Given the description of an element on the screen output the (x, y) to click on. 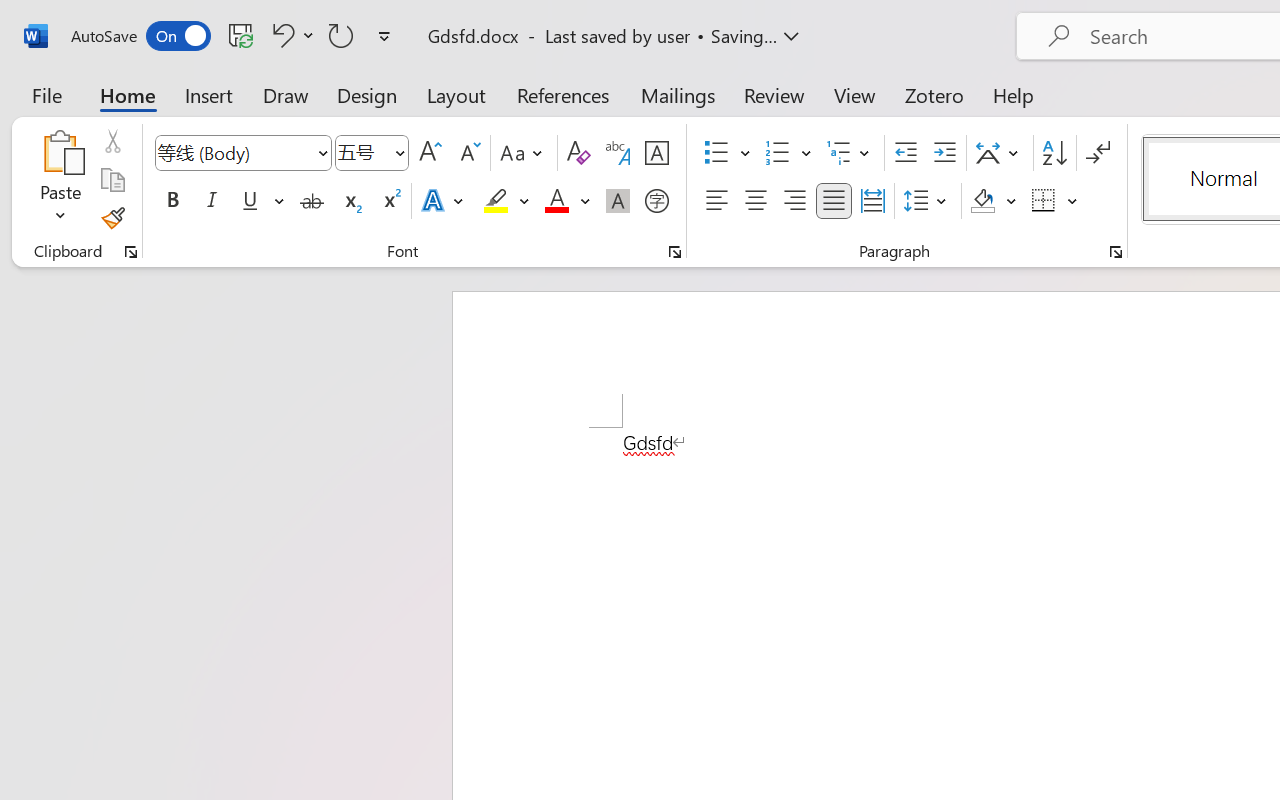
Undo ClearFormattingInner (290, 35)
Font Color Red (556, 201)
